Given the description of an element on the screen output the (x, y) to click on. 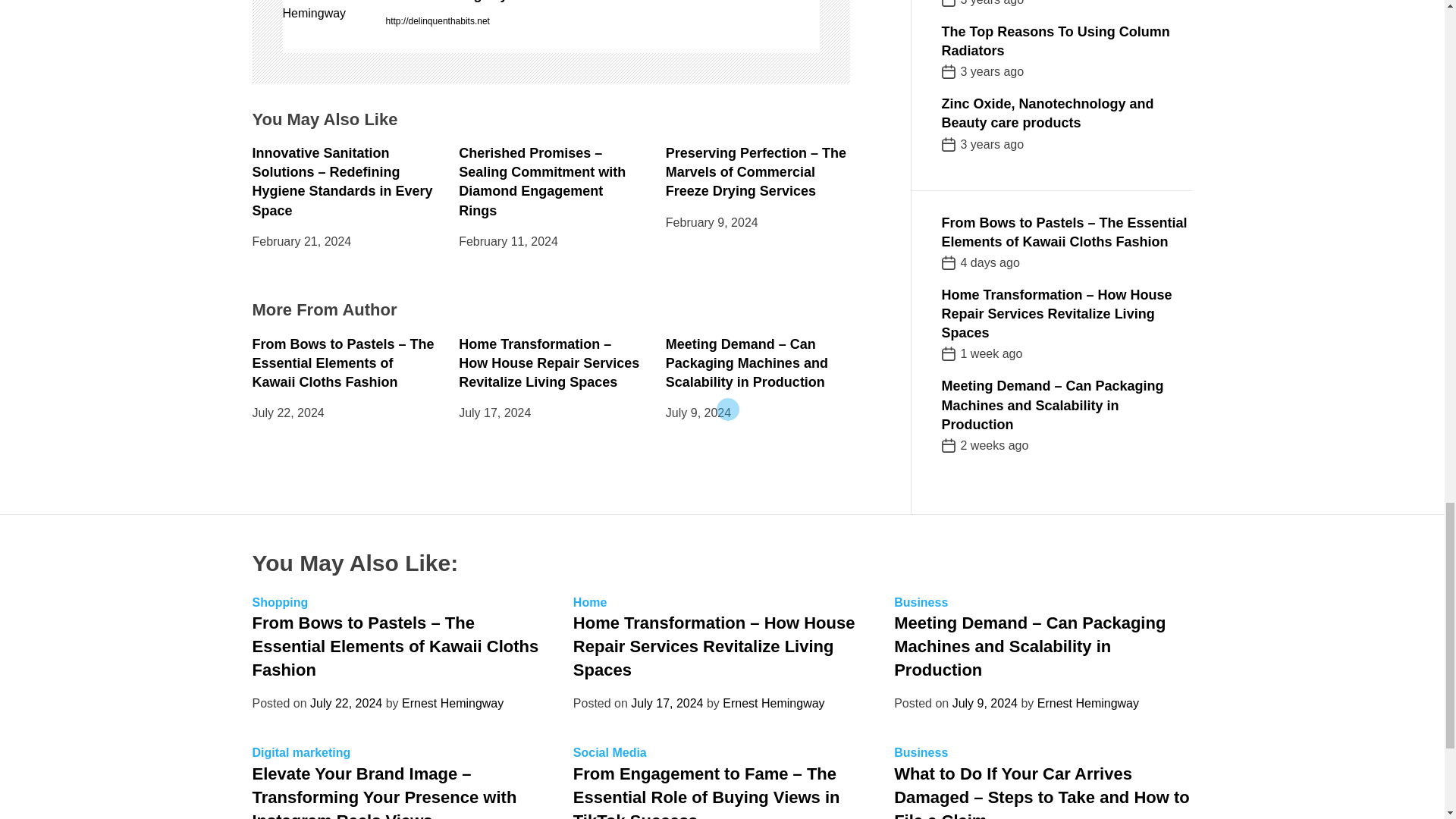
Ernest Hemingway (601, 2)
Ernest Hemingway (601, 2)
Ernest Hemingway (325, 11)
